Given the description of an element on the screen output the (x, y) to click on. 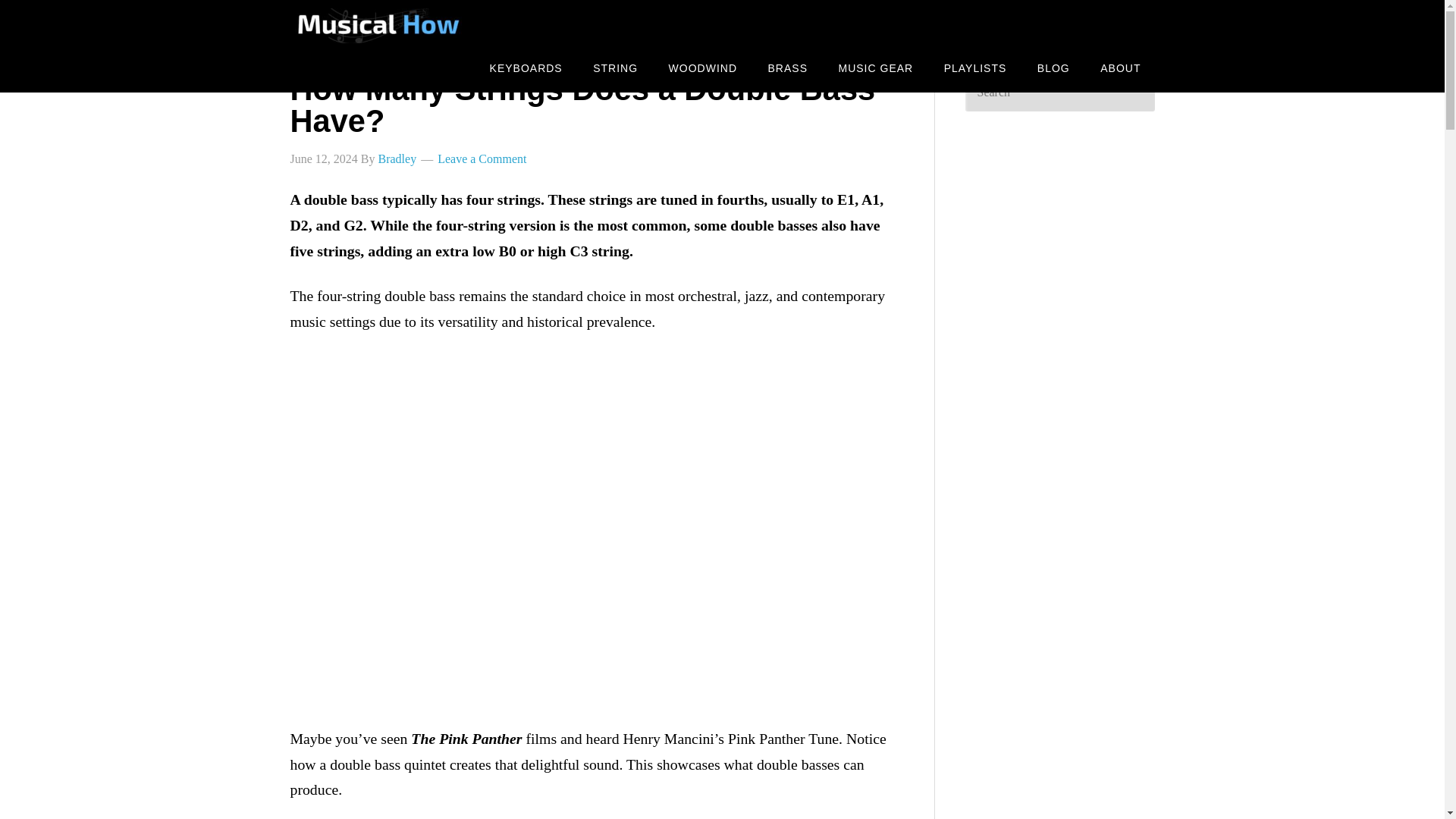
STRING (614, 67)
MUSIC GEAR (876, 67)
Bradley (396, 158)
WOODWIND (703, 67)
ABOUT (1120, 67)
BRASS (787, 67)
KEYBOARDS (526, 67)
